Given the description of an element on the screen output the (x, y) to click on. 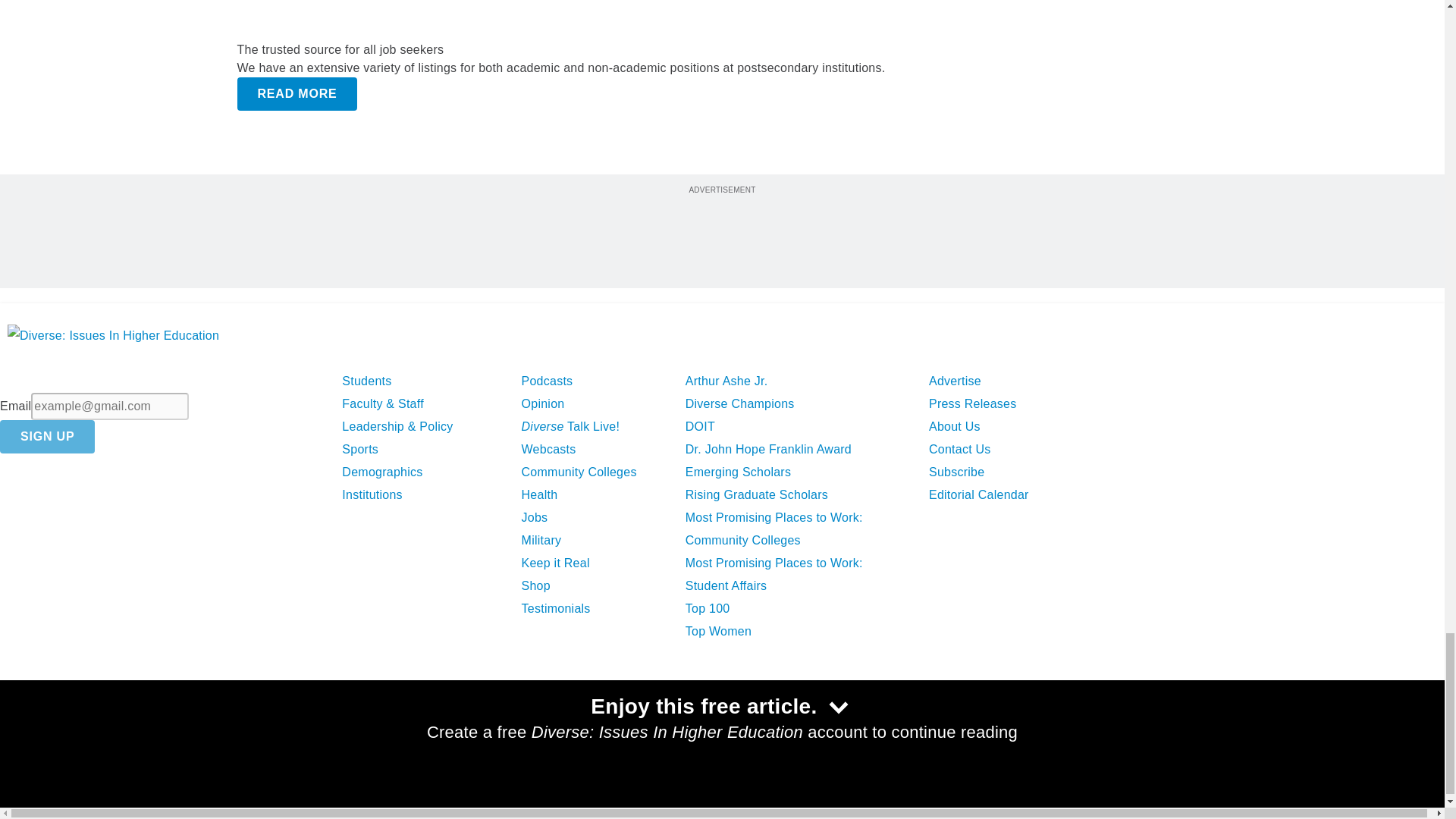
Twitter X icon (60, 733)
Facebook icon (20, 733)
LinkedIn icon (102, 733)
YouTube icon (141, 733)
Instagram icon (179, 733)
